Given the description of an element on the screen output the (x, y) to click on. 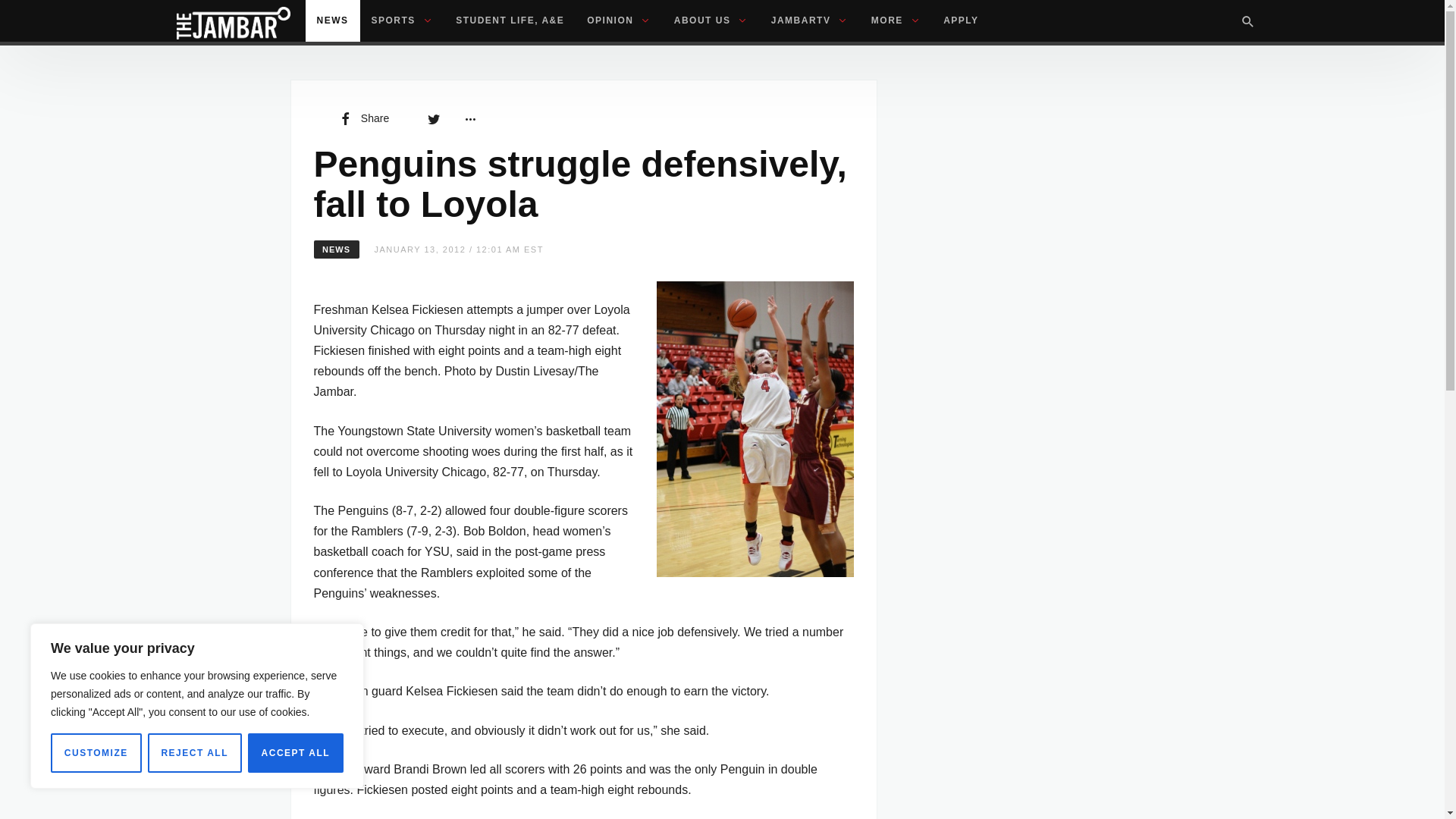
ABOUT US (711, 20)
REJECT ALL (194, 753)
ACCEPT ALL (295, 753)
More (469, 118)
JAMBARTV (810, 20)
SPORTS (401, 20)
OPINION (618, 20)
Share on Twitter (433, 118)
NEWS (331, 20)
MORE (895, 20)
